Given the description of an element on the screen output the (x, y) to click on. 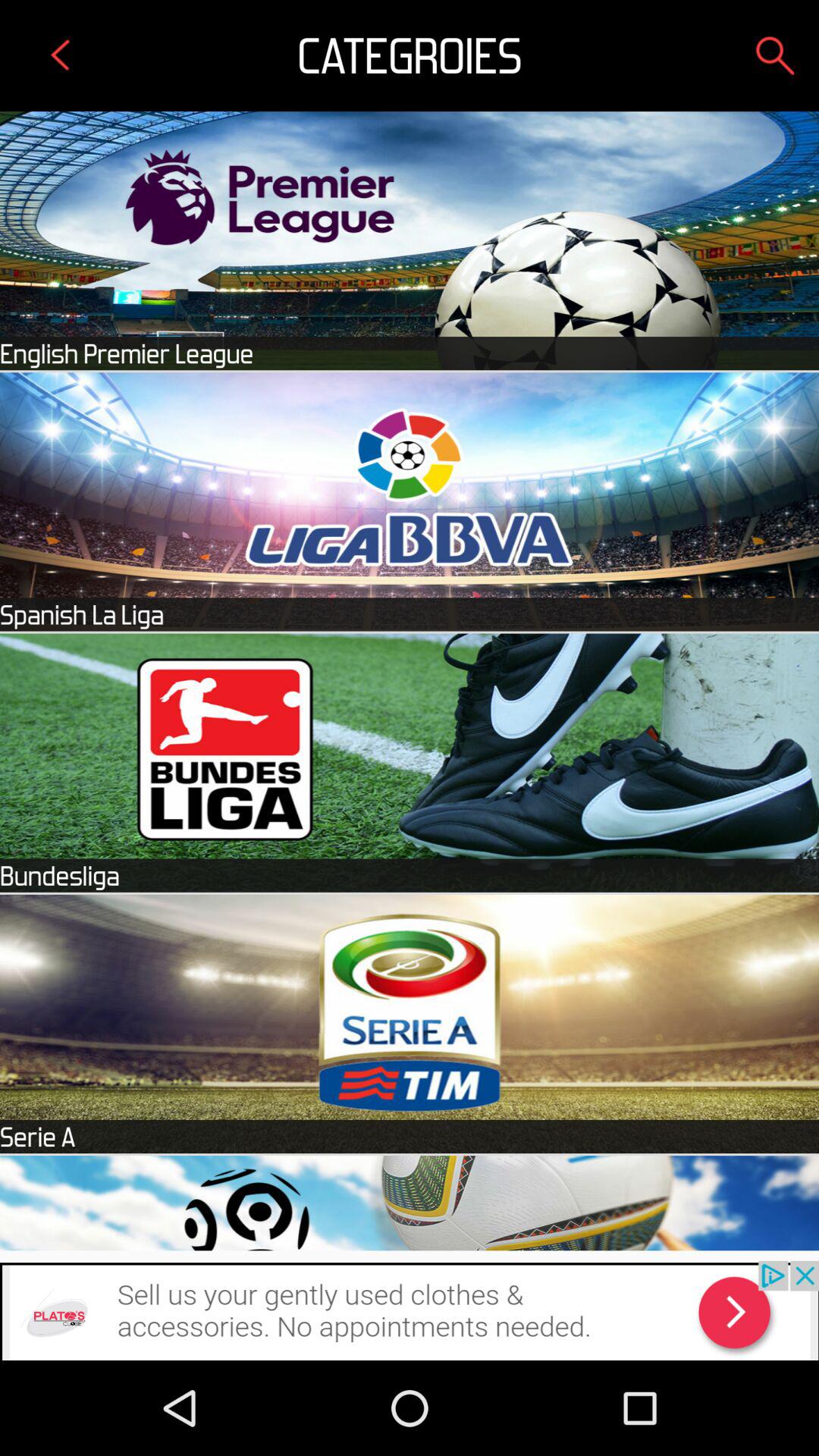
new search (775, 55)
